Given the description of an element on the screen output the (x, y) to click on. 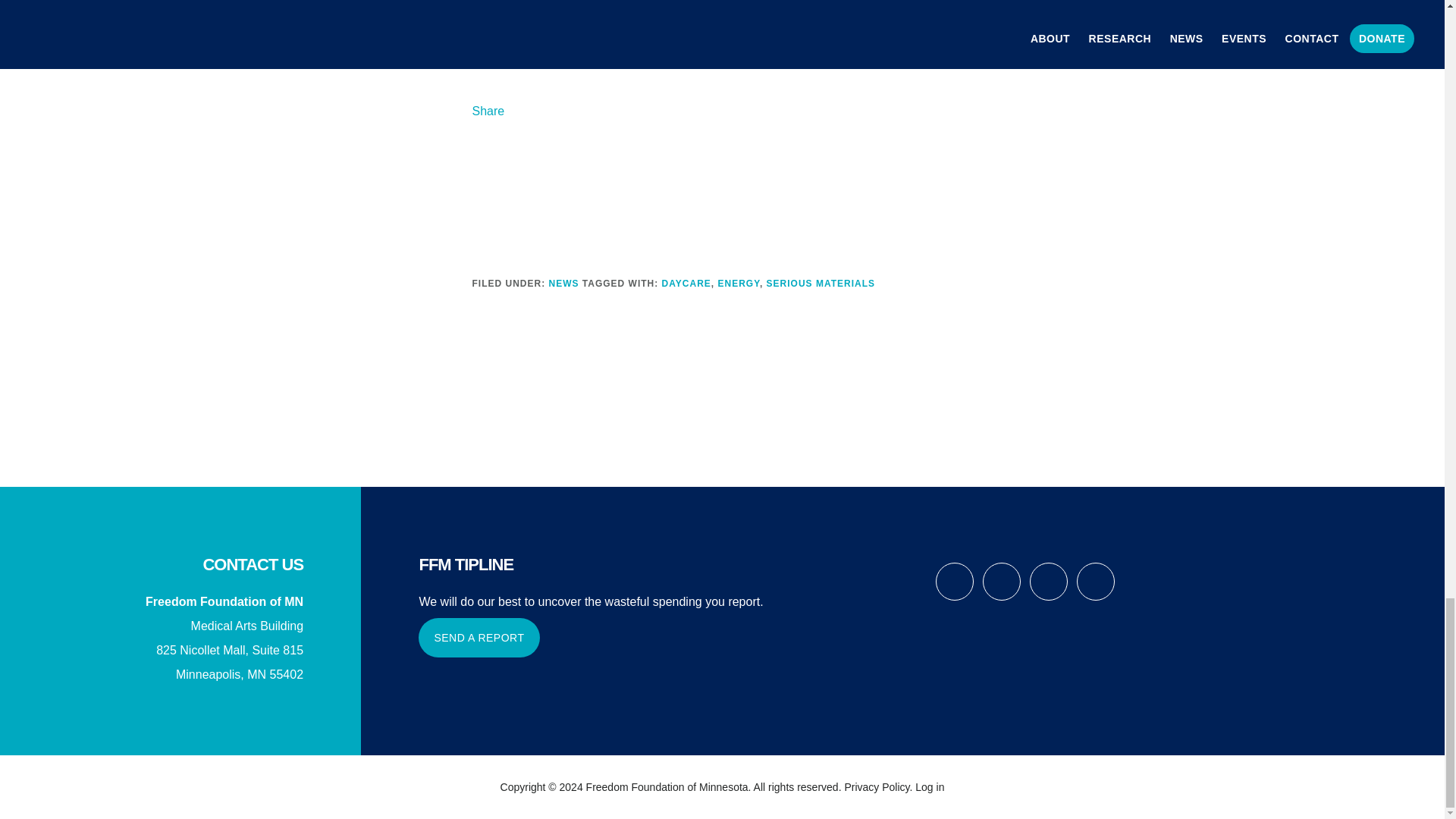
ENERGY (738, 283)
Privacy Policy. (878, 787)
Log in (929, 787)
SERIOUS MATERIALS (821, 283)
NEWS (563, 283)
DAYCARE (686, 283)
SEND A REPORT (478, 637)
Share (487, 110)
